Given the description of an element on the screen output the (x, y) to click on. 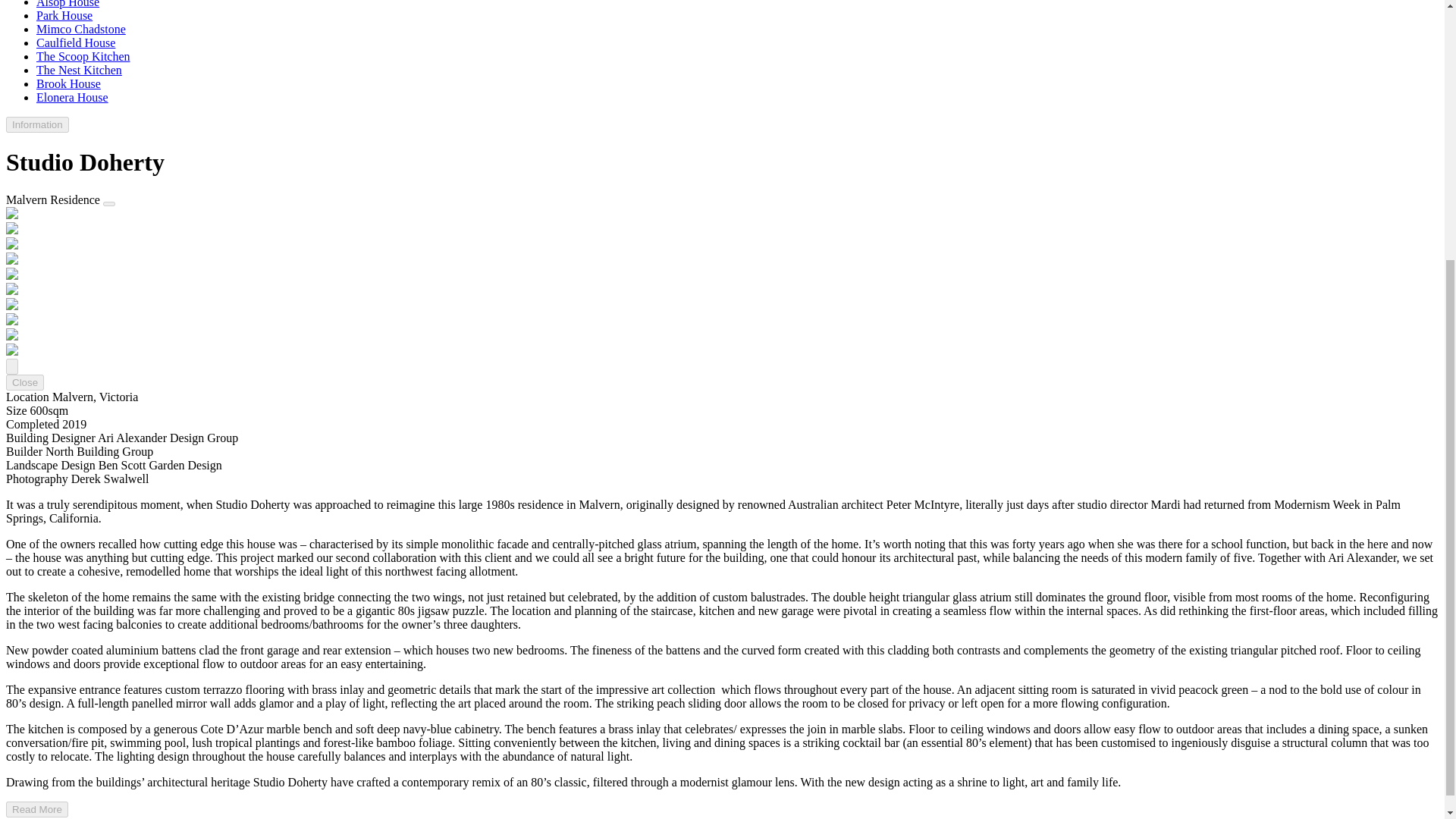
Read More (36, 809)
Close (24, 382)
Elonera House (71, 97)
The Scoop Kitchen (83, 56)
Caulfield House (75, 42)
Mimco Chadstone (80, 29)
Brook House (68, 83)
Park House (64, 15)
Information (36, 124)
Alsop House (67, 4)
The Nest Kitchen (79, 69)
